Given the description of an element on the screen output the (x, y) to click on. 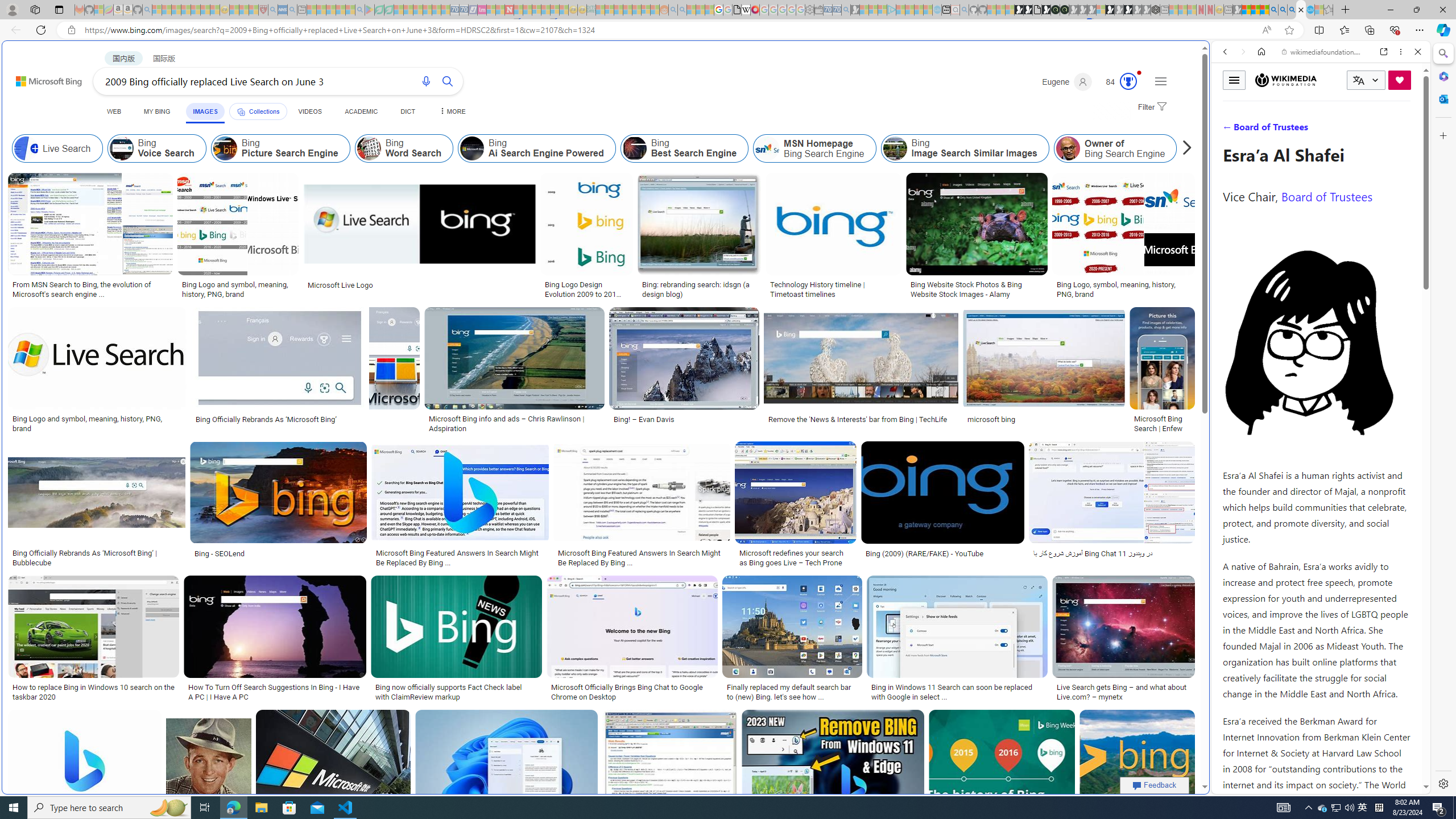
Donate now (1399, 80)
Close Customize pane (1442, 135)
WEB   (1230, 130)
github - Search - Sleeping (964, 9)
Bing: rebranding search: idsgn (a design blog) (699, 289)
Local - MSN - Sleeping (253, 9)
Close split screen (1208, 57)
